Given the description of an element on the screen output the (x, y) to click on. 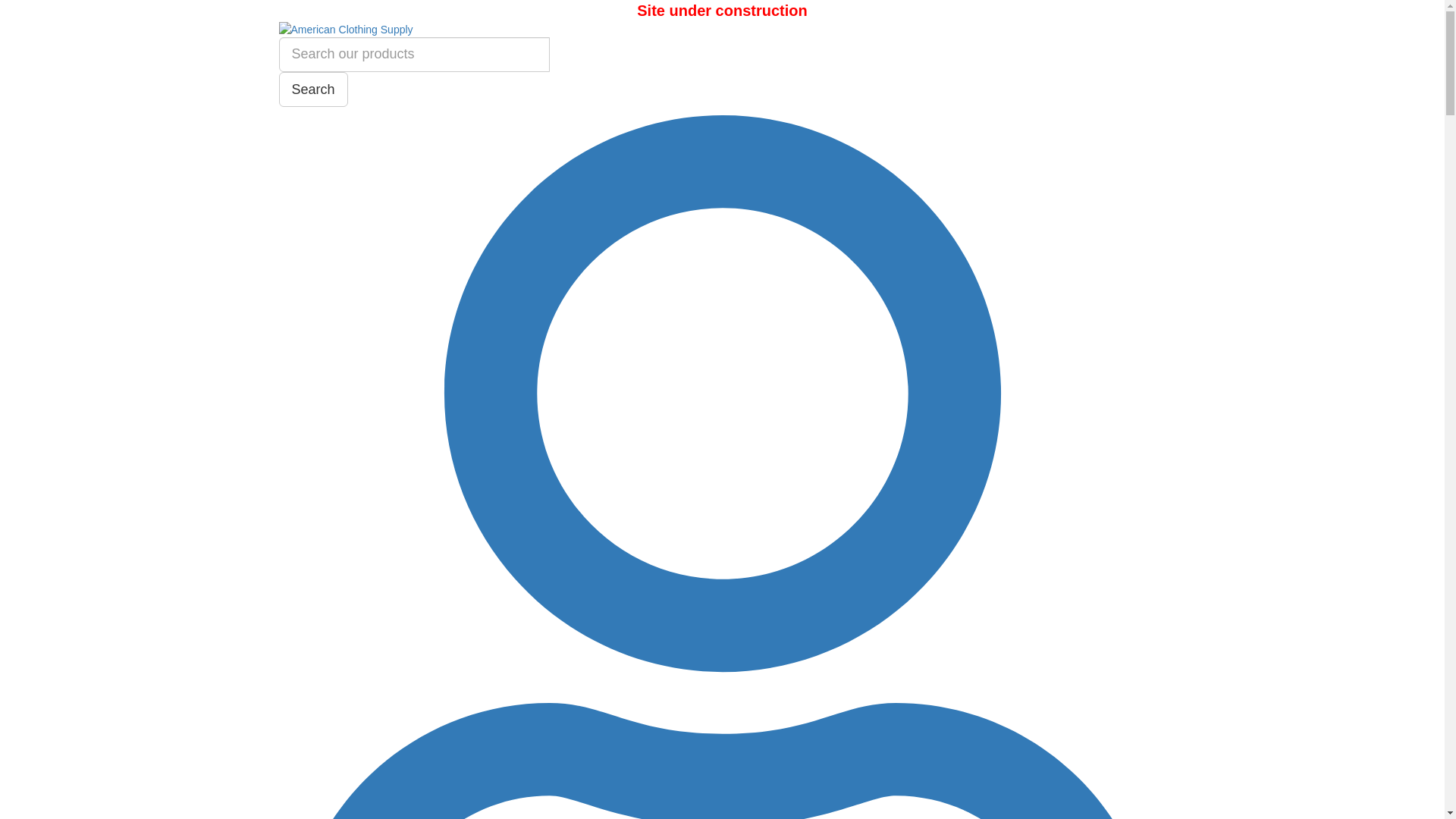
American Clothing Supply Element type: hover (722, 29)
Search Element type: text (313, 89)
